Given the description of an element on the screen output the (x, y) to click on. 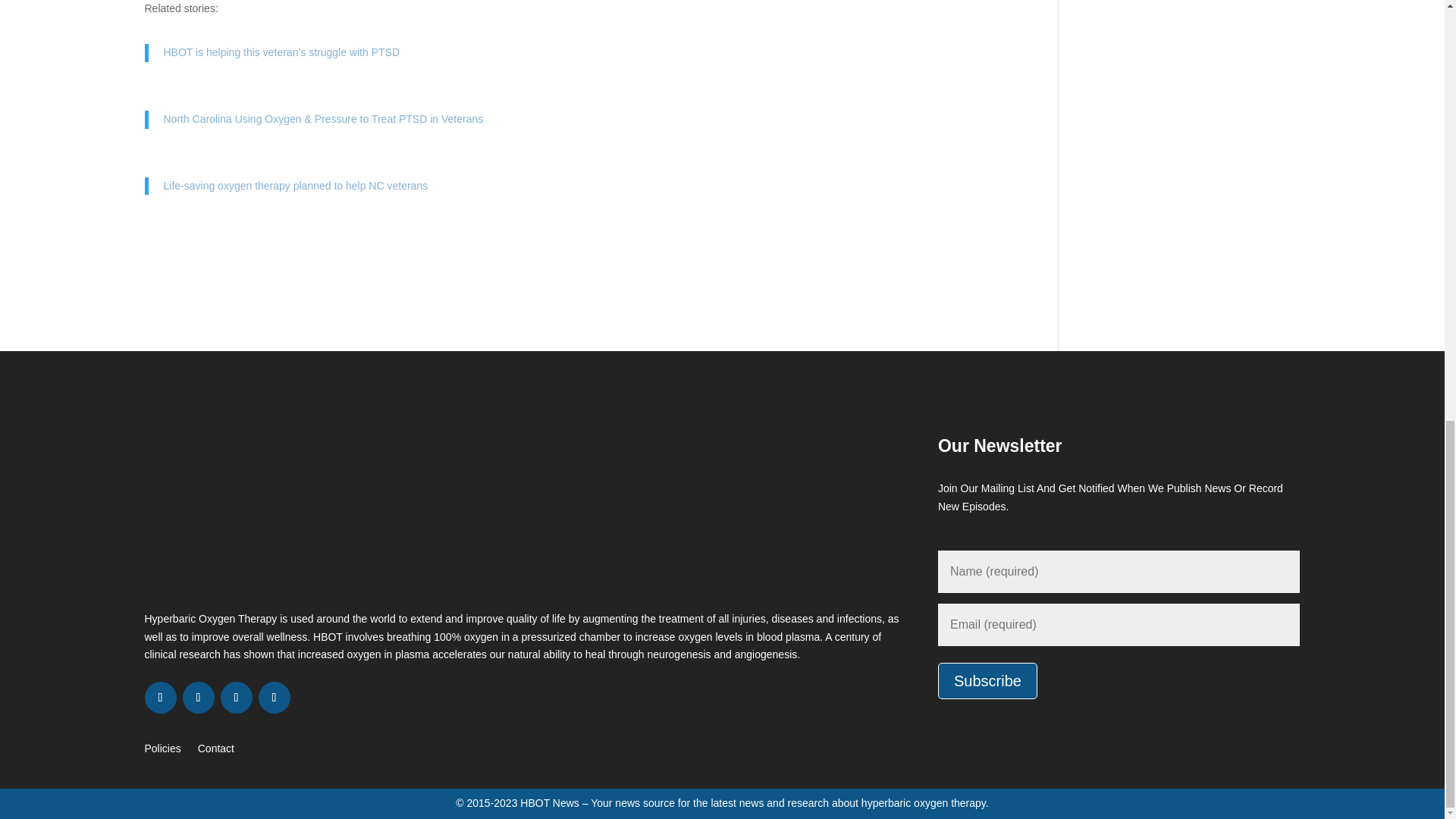
Follow on Twitter (198, 697)
Follow on Instagram (235, 697)
Follow on Facebook (160, 697)
Subscribe (986, 680)
HBOT News Network Logo Color (352, 515)
Follow on Youtube (273, 697)
